Given the description of an element on the screen output the (x, y) to click on. 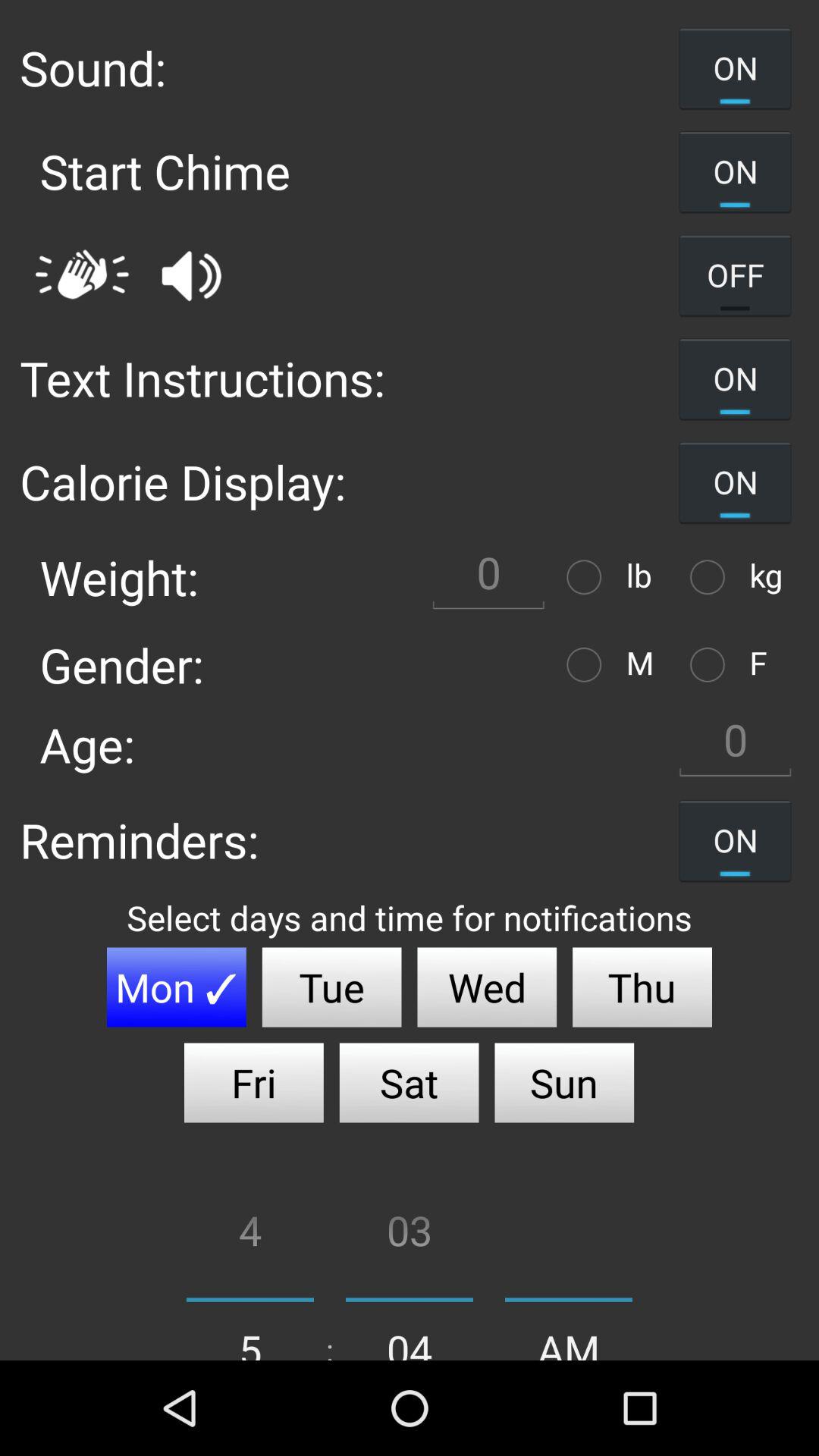
choose gender (587, 664)
